Given the description of an element on the screen output the (x, y) to click on. 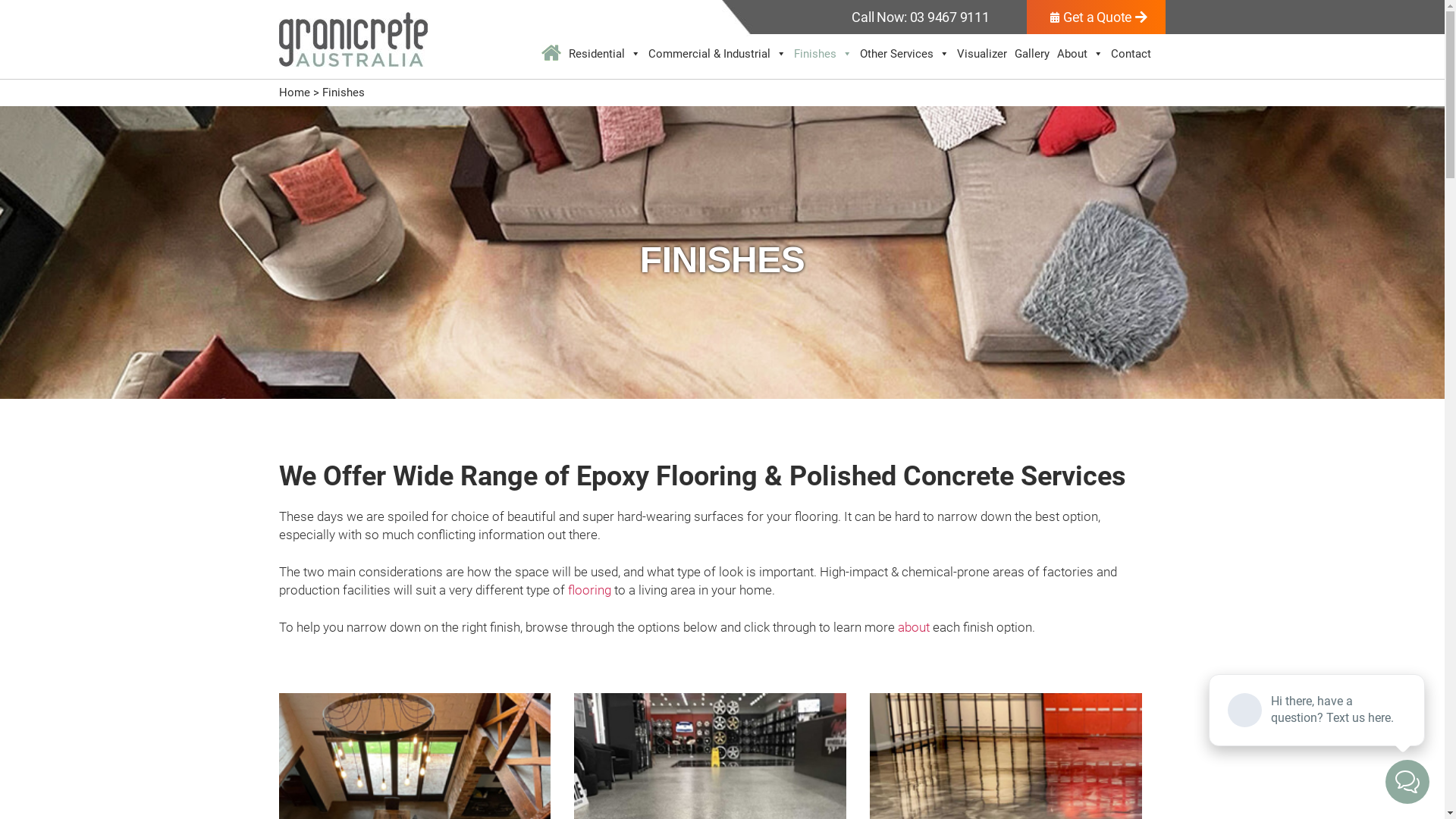
Other Services Element type: text (904, 53)
Commercial & Industrial Element type: text (717, 53)
About Element type: text (1080, 53)
Residential Element type: text (604, 53)
Call Now: 03 9467 9111 Element type: text (919, 16)
Finishes Element type: text (823, 53)
Contact Element type: text (1130, 53)
Gallery Element type: text (1031, 53)
about Element type: text (913, 626)
Get a Quote Element type: text (1095, 16)
flooring Element type: text (588, 589)
Visualizer Element type: text (981, 53)
